Given the description of an element on the screen output the (x, y) to click on. 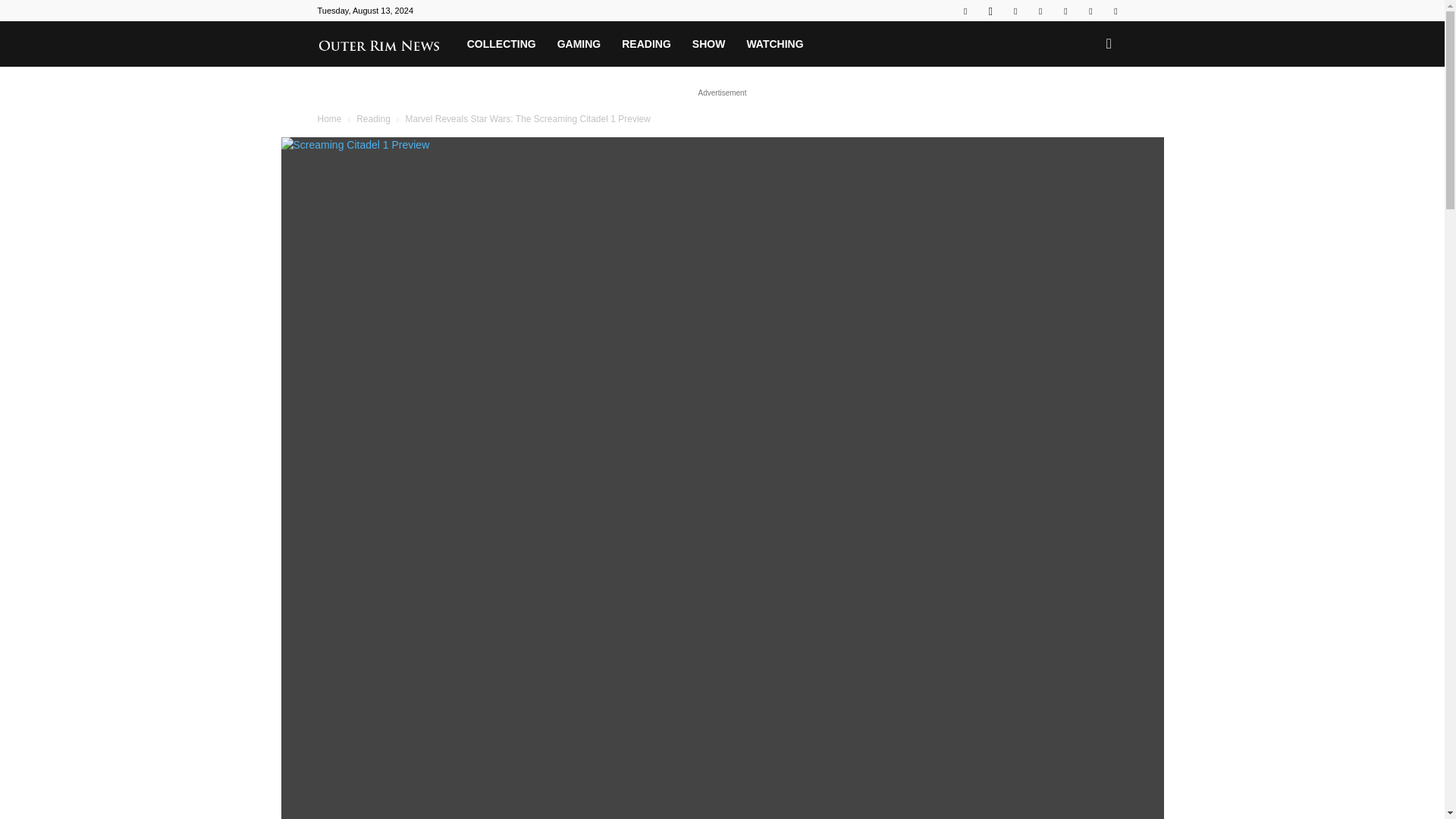
Tumblr (1065, 10)
Instagram (989, 10)
Outer Rim News (386, 43)
Mail (1015, 10)
COLLECTING (502, 43)
Pinterest (1040, 10)
Facebook (964, 10)
